Given the description of an element on the screen output the (x, y) to click on. 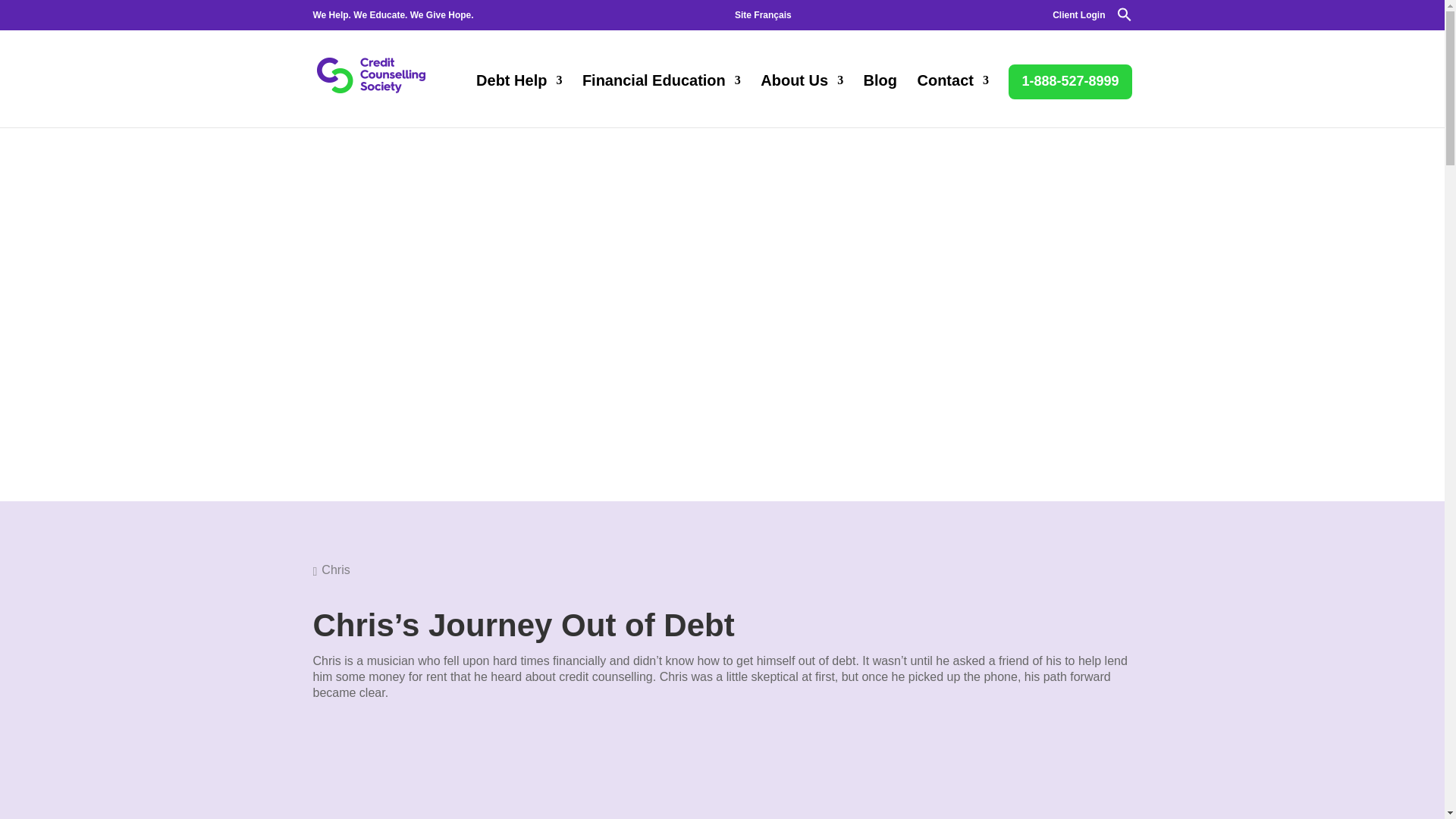
Financial Education (661, 101)
Debt Help (519, 101)
About Us (801, 101)
We Help. We Educate. We Give Hope. (393, 18)
Contact (952, 101)
Client Login (1078, 18)
